Given the description of an element on the screen output the (x, y) to click on. 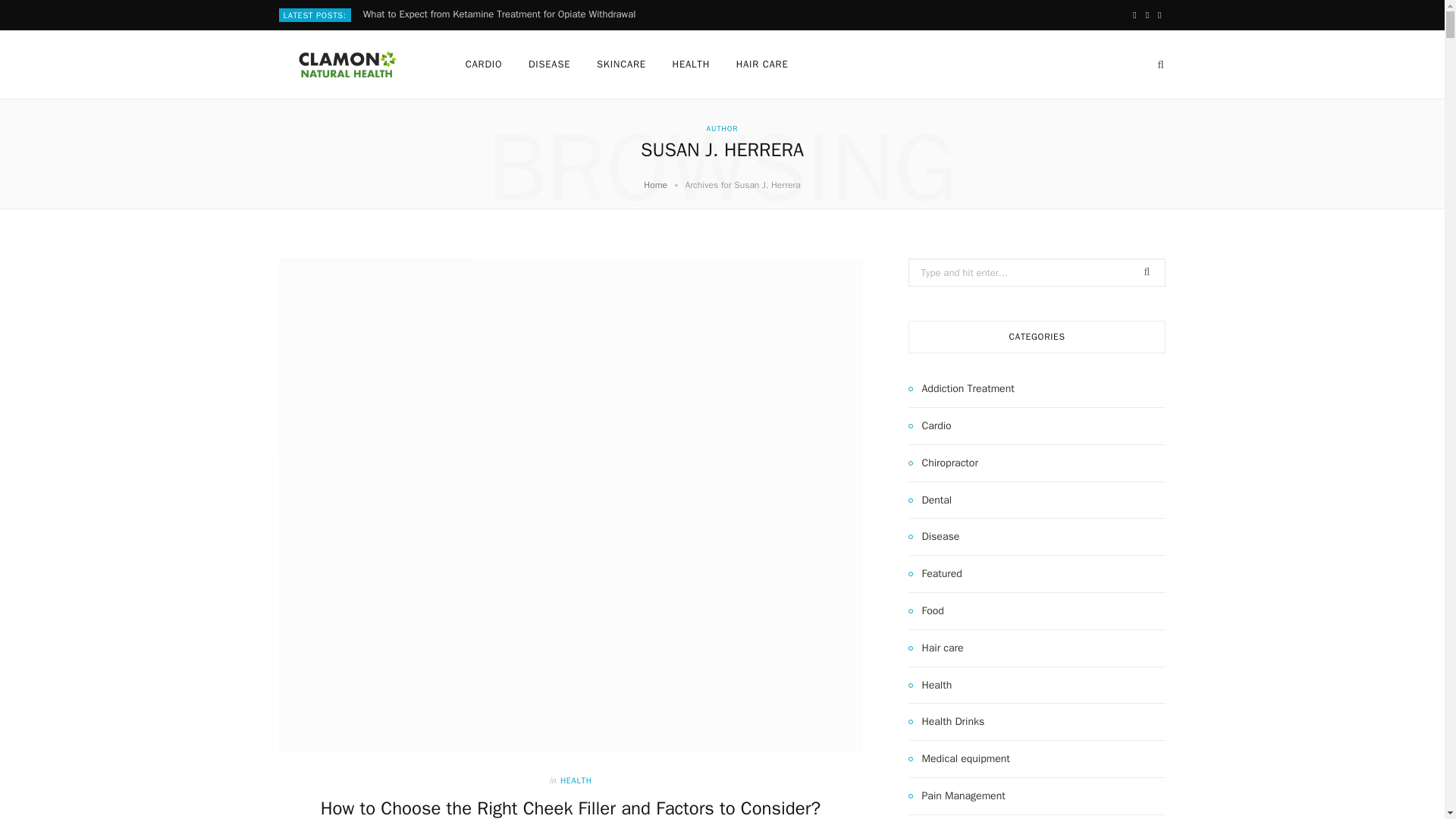
SKINCARE (621, 64)
HAIR CARE (762, 64)
What to Expect from Ketamine Treatment for Opiate Withdrawal (502, 14)
Home (654, 184)
DISEASE (548, 64)
What to Expect from Ketamine Treatment for Opiate Withdrawal (502, 14)
HEALTH (576, 780)
Clamon Natural Health (347, 64)
